Given the description of an element on the screen output the (x, y) to click on. 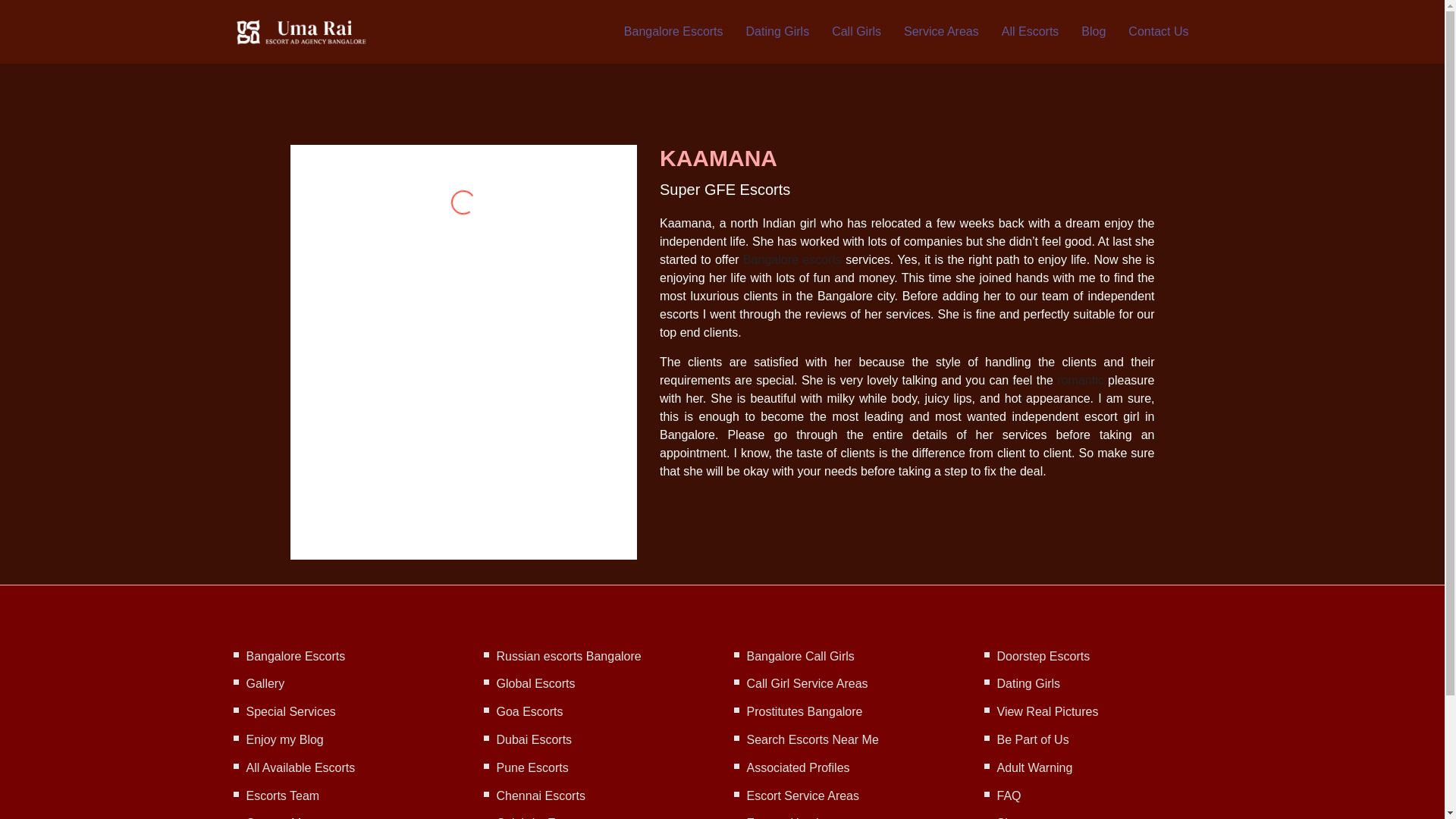
romantic (1080, 379)
View Real Pictures (1046, 711)
Bangalore Escorts (673, 31)
Call Girls (855, 31)
Pune Escorts (531, 767)
All Escorts (1030, 31)
Call Girls (855, 31)
Dating Girls (777, 31)
Blog (1093, 31)
Global Escorts (535, 683)
